Given the description of an element on the screen output the (x, y) to click on. 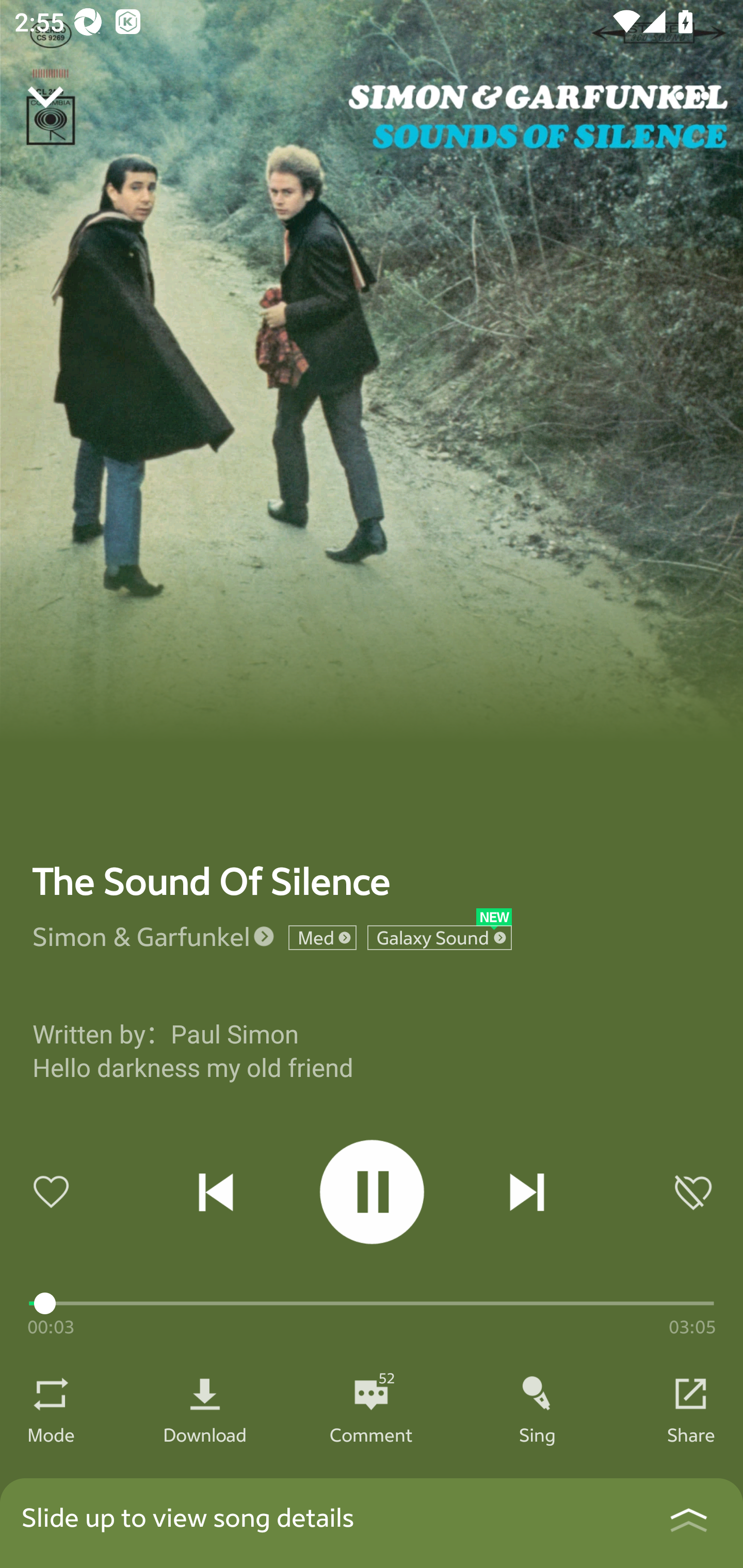
The Sound Of Silence (211, 881)
Simon & Garfunkel (141, 935)
Med (322, 937)
Galaxy Sound (439, 937)
52 (371, 1393)
Mode (51, 1434)
Download (204, 1434)
Comment (370, 1434)
Sing (537, 1434)
Share (691, 1434)
Slide up to view song details (371, 1523)
